Given the description of an element on the screen output the (x, y) to click on. 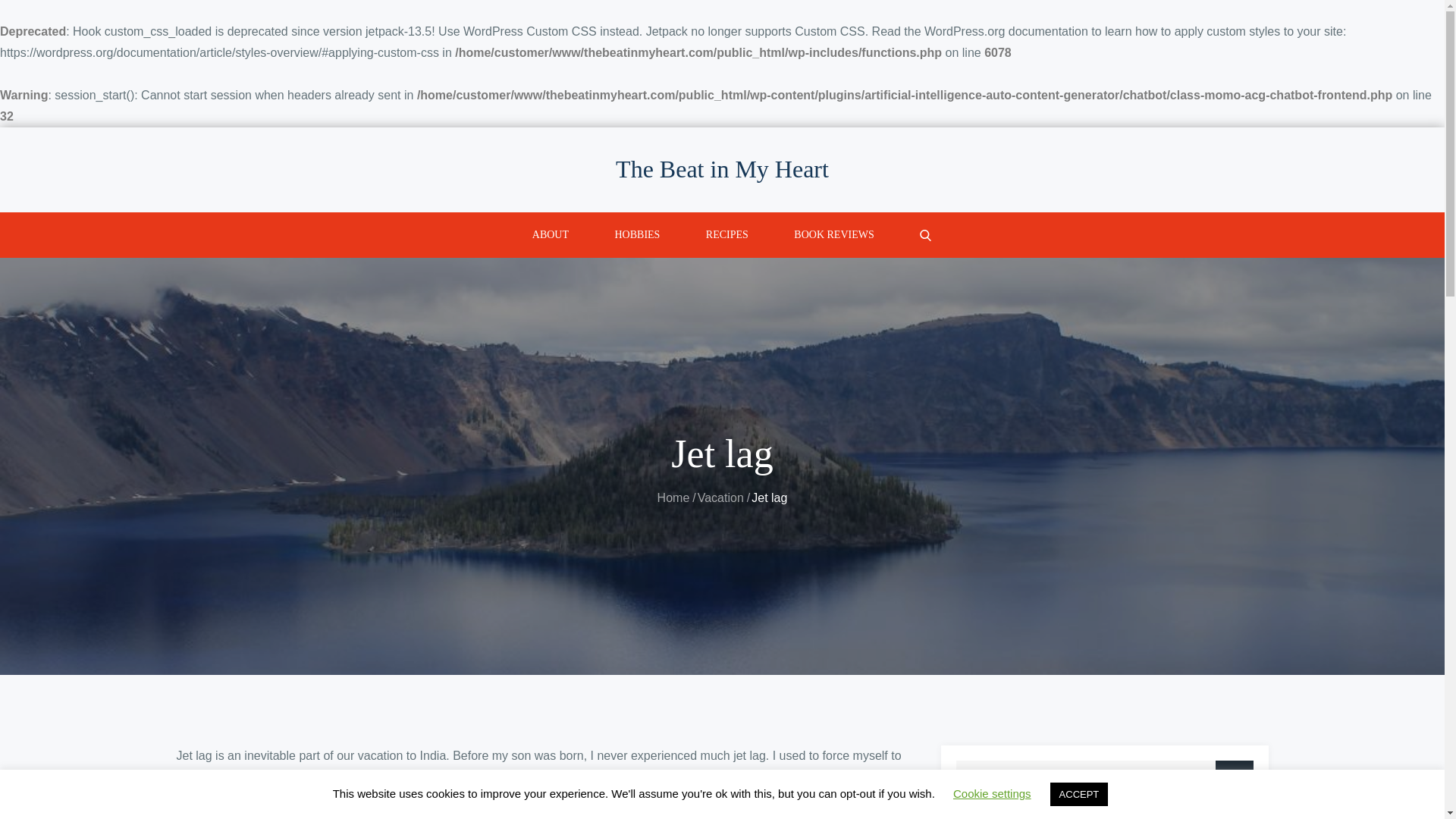
Search (1233, 779)
Home (674, 496)
HOBBIES (636, 234)
ABOUT (550, 234)
BOOK REVIEWS (834, 234)
The Beat in My Heart (721, 168)
Vacation (720, 496)
RECIPES (727, 234)
